Given the description of an element on the screen output the (x, y) to click on. 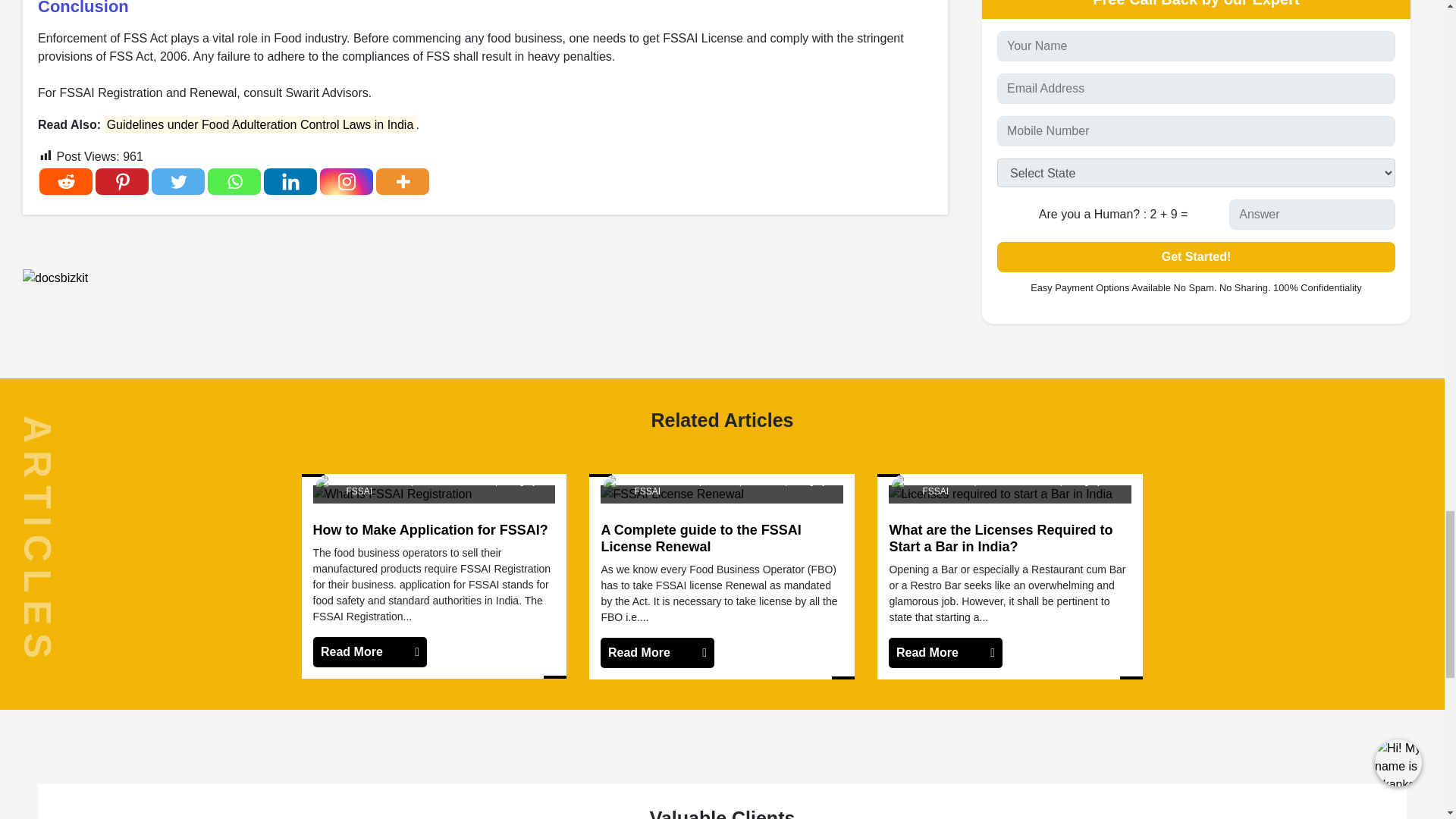
More (402, 181)
Twitter (178, 181)
Linkedin (290, 181)
Posts by Swarit Advisors (664, 480)
Whatsapp (234, 181)
Pinterest (122, 181)
Instagram (346, 181)
Reddit (66, 181)
Posts by Swarit Advisors (376, 480)
